Given the description of an element on the screen output the (x, y) to click on. 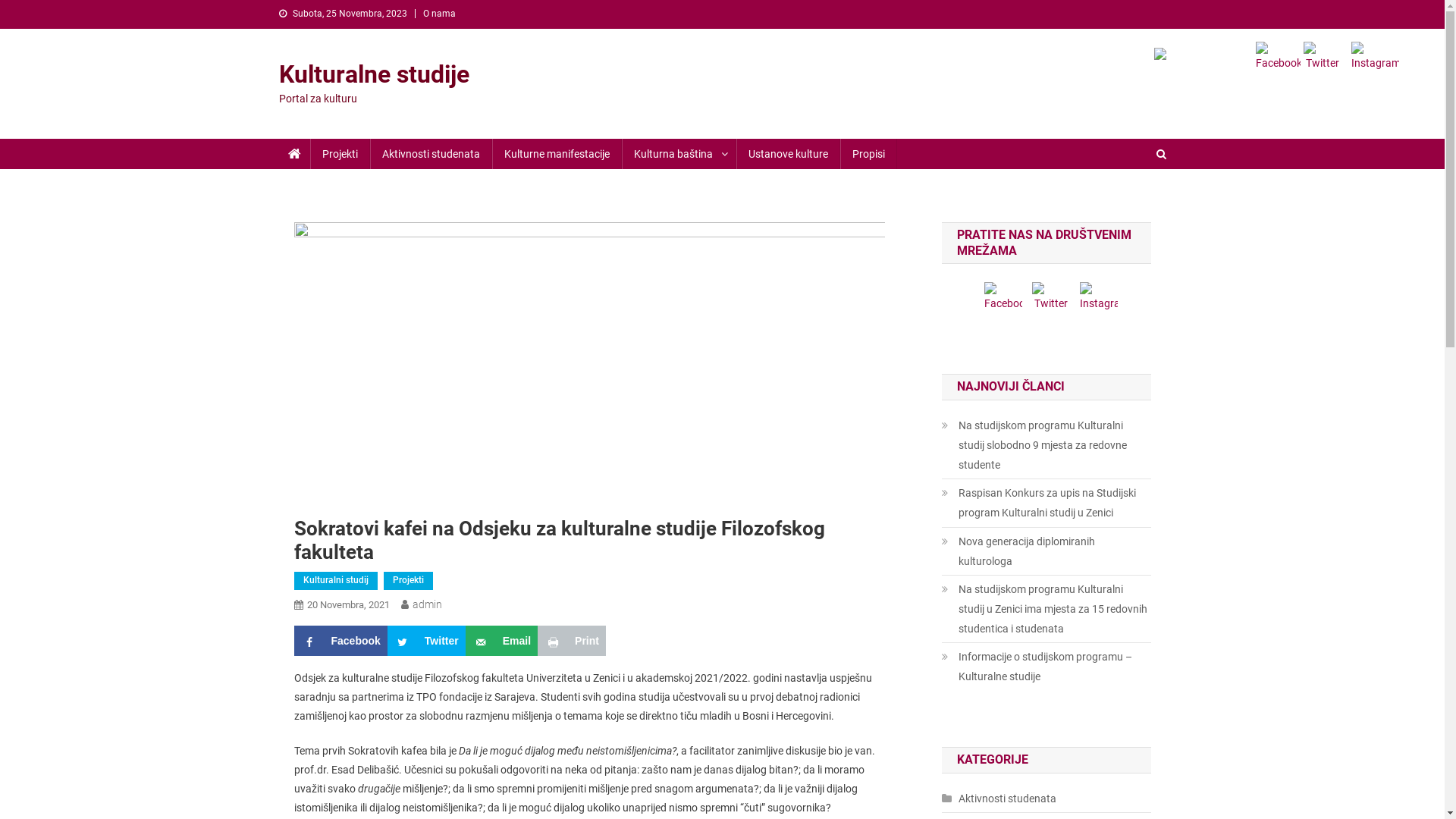
Projekti Element type: text (408, 580)
Kulturne manifestacije Element type: text (556, 153)
20 Novembra, 2021 Element type: text (347, 604)
Print Element type: text (571, 640)
Instagram Element type: hover (1375, 56)
O nama Element type: text (439, 13)
Twitter Element type: text (426, 640)
Ustanove kulture Element type: text (787, 153)
Aktivnosti studenata Element type: text (431, 153)
Projekti Element type: text (339, 153)
Facebook Element type: hover (1003, 297)
Kulturalni studij Element type: text (335, 580)
Nova generacija diplomiranih kulturologa Element type: text (1046, 551)
Facebook Element type: hover (1277, 56)
Aktivnosti studenata Element type: text (998, 798)
admin Element type: text (427, 604)
Twitter Element type: hover (1322, 56)
Instagram Element type: hover (1098, 297)
Email Element type: text (501, 640)
Kulturalne studije Element type: text (374, 73)
Twitter Element type: hover (1051, 297)
Propisi Element type: text (868, 153)
Pretraga Element type: text (1133, 204)
Facebook Element type: text (340, 640)
